Given the description of an element on the screen output the (x, y) to click on. 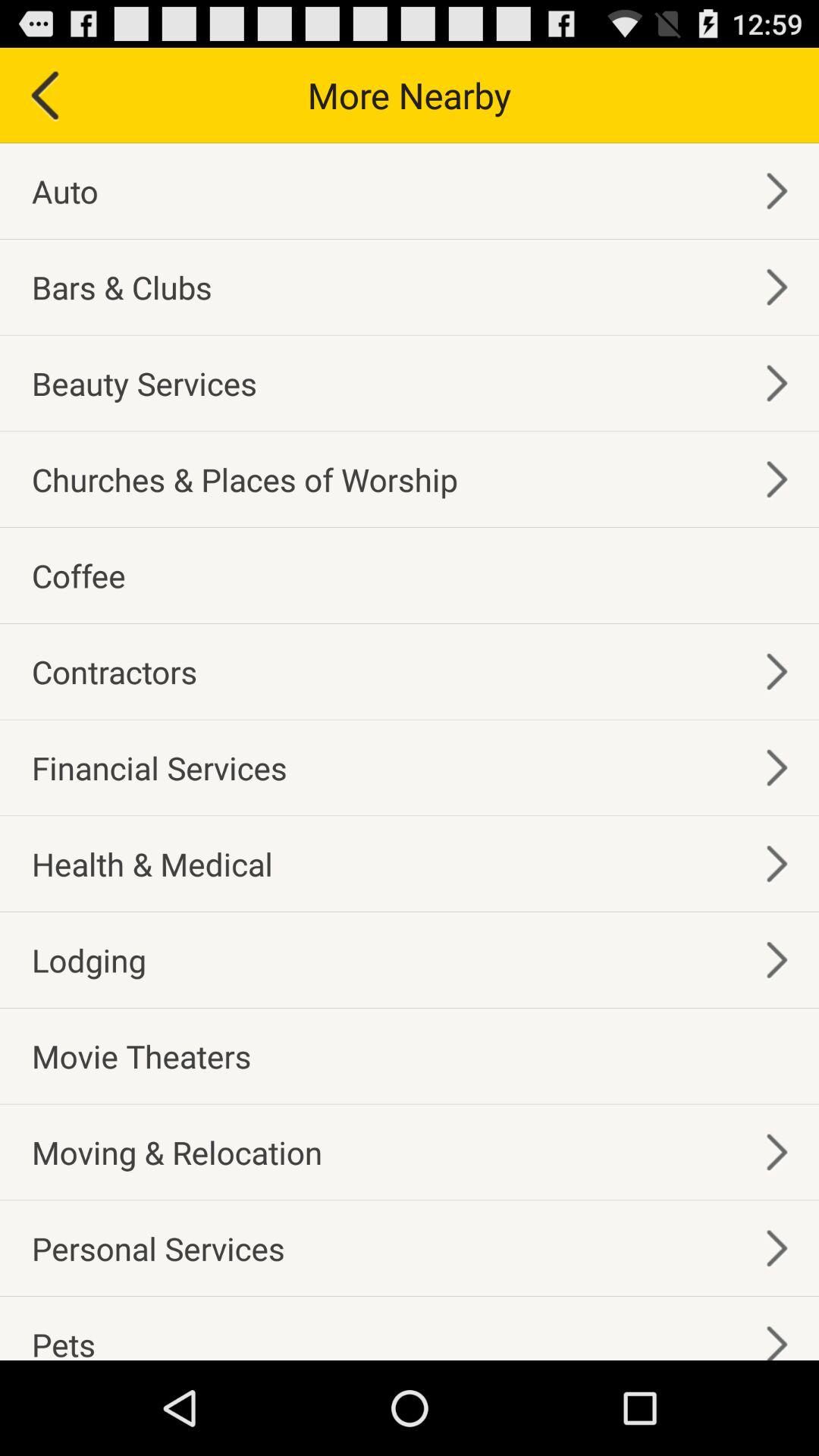
open the item below contractors item (159, 767)
